Given the description of an element on the screen output the (x, y) to click on. 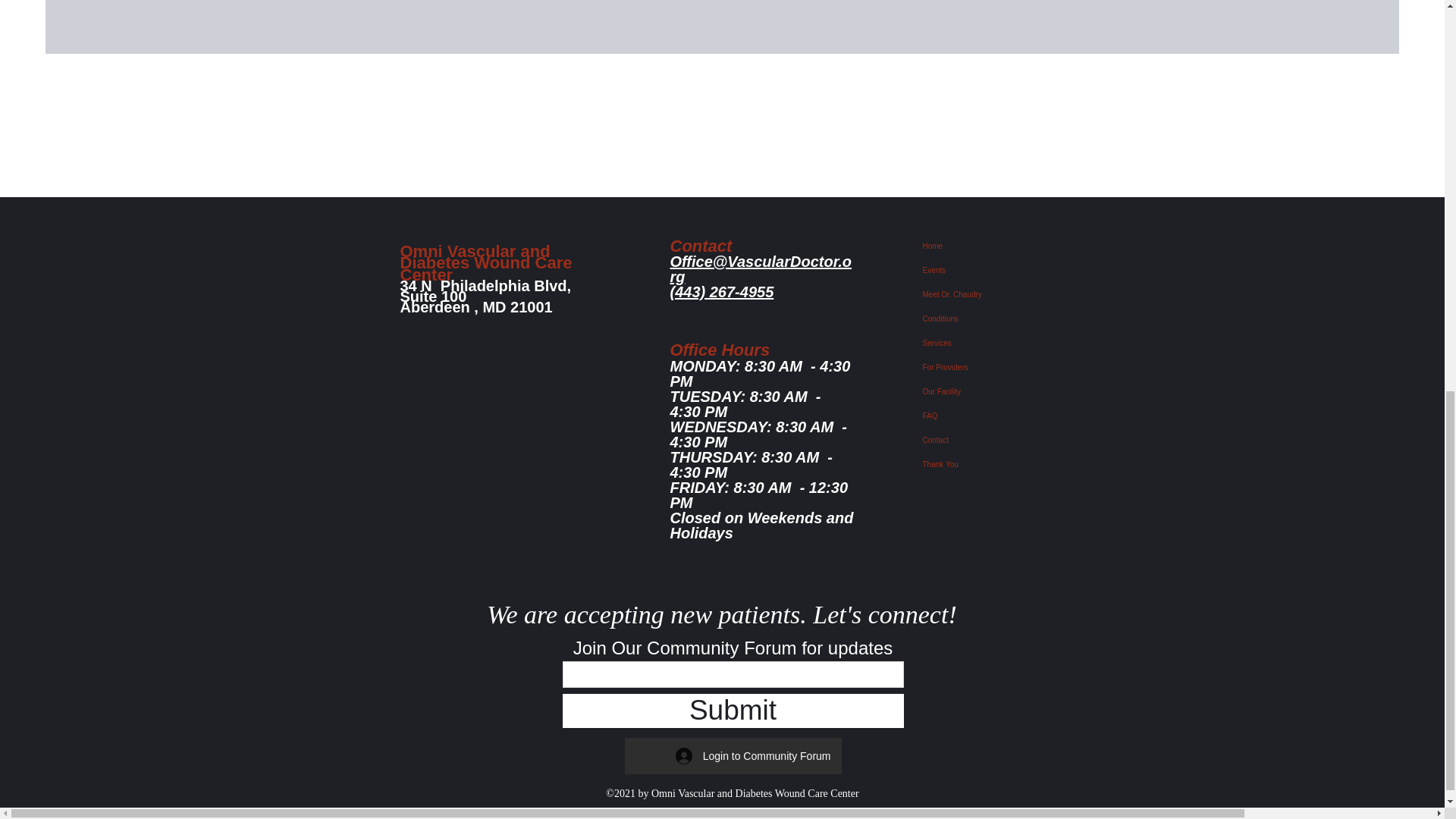
Google Maps (497, 400)
Meet Dr. Chaudry (988, 294)
Conditions (988, 319)
Home (988, 246)
Events (988, 270)
